Given the description of an element on the screen output the (x, y) to click on. 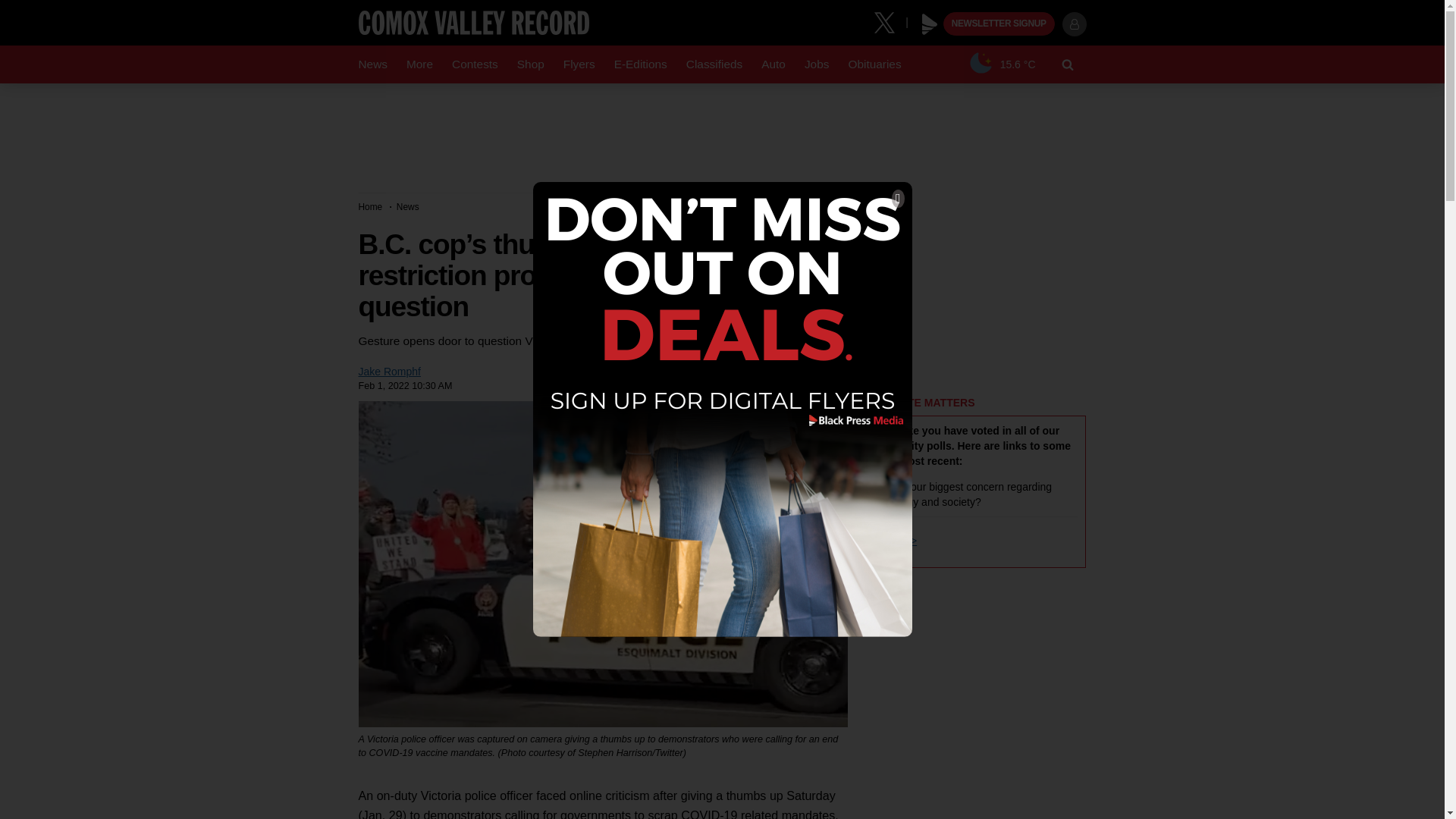
Black Press Media (929, 24)
X (889, 21)
News (372, 64)
NEWSLETTER SIGNUP (998, 24)
Play (929, 24)
